Given the description of an element on the screen output the (x, y) to click on. 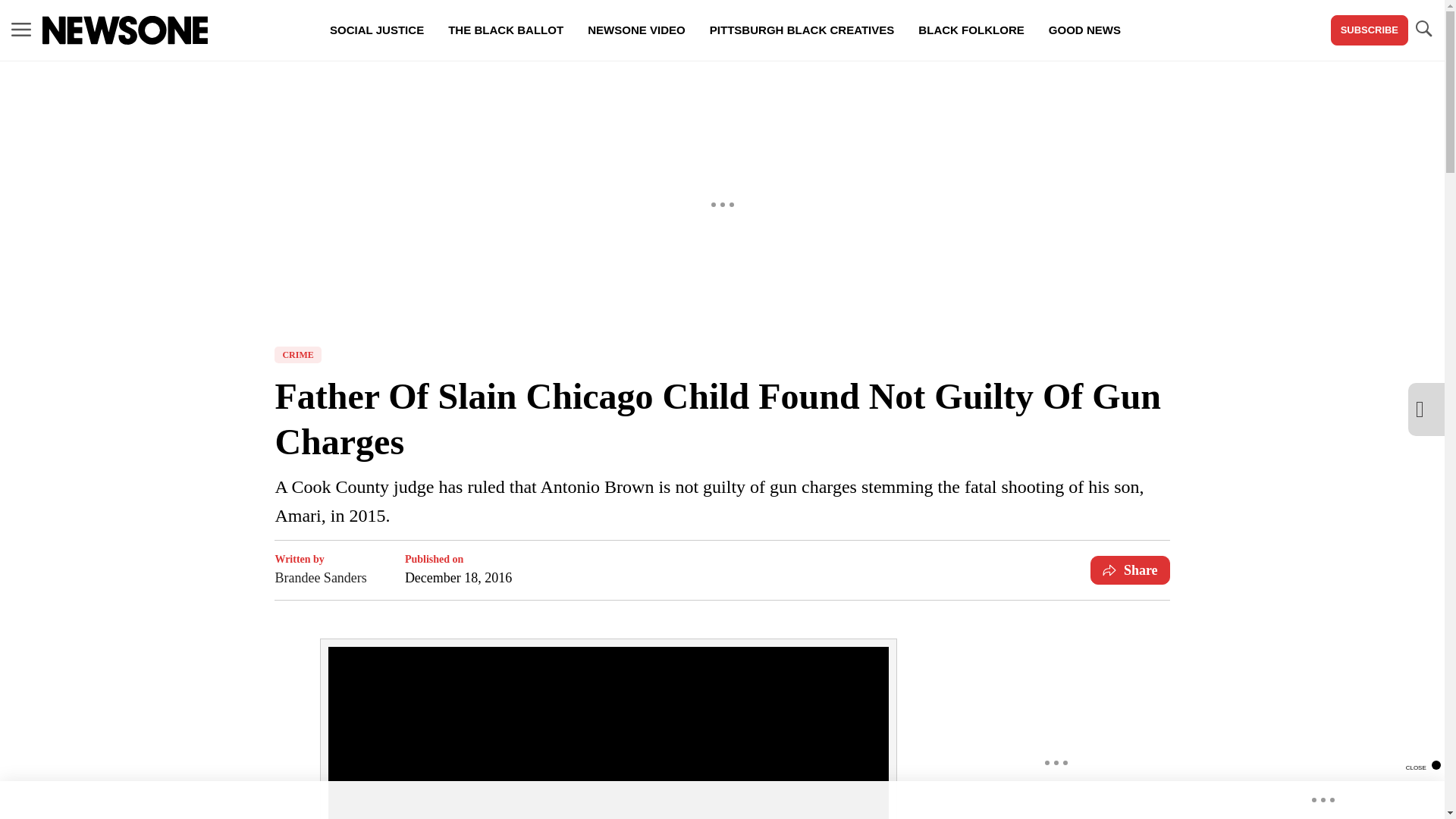
Brandee Sanders (320, 577)
SUBSCRIBE (1368, 30)
SOCIAL JUSTICE (376, 30)
MENU (20, 30)
NEWSONE VIDEO (636, 30)
Share (1130, 570)
CRIME (297, 354)
PITTSBURGH BLACK CREATIVES (802, 30)
GOOD NEWS (1084, 30)
TOGGLE SEARCH (1422, 28)
